Given the description of an element on the screen output the (x, y) to click on. 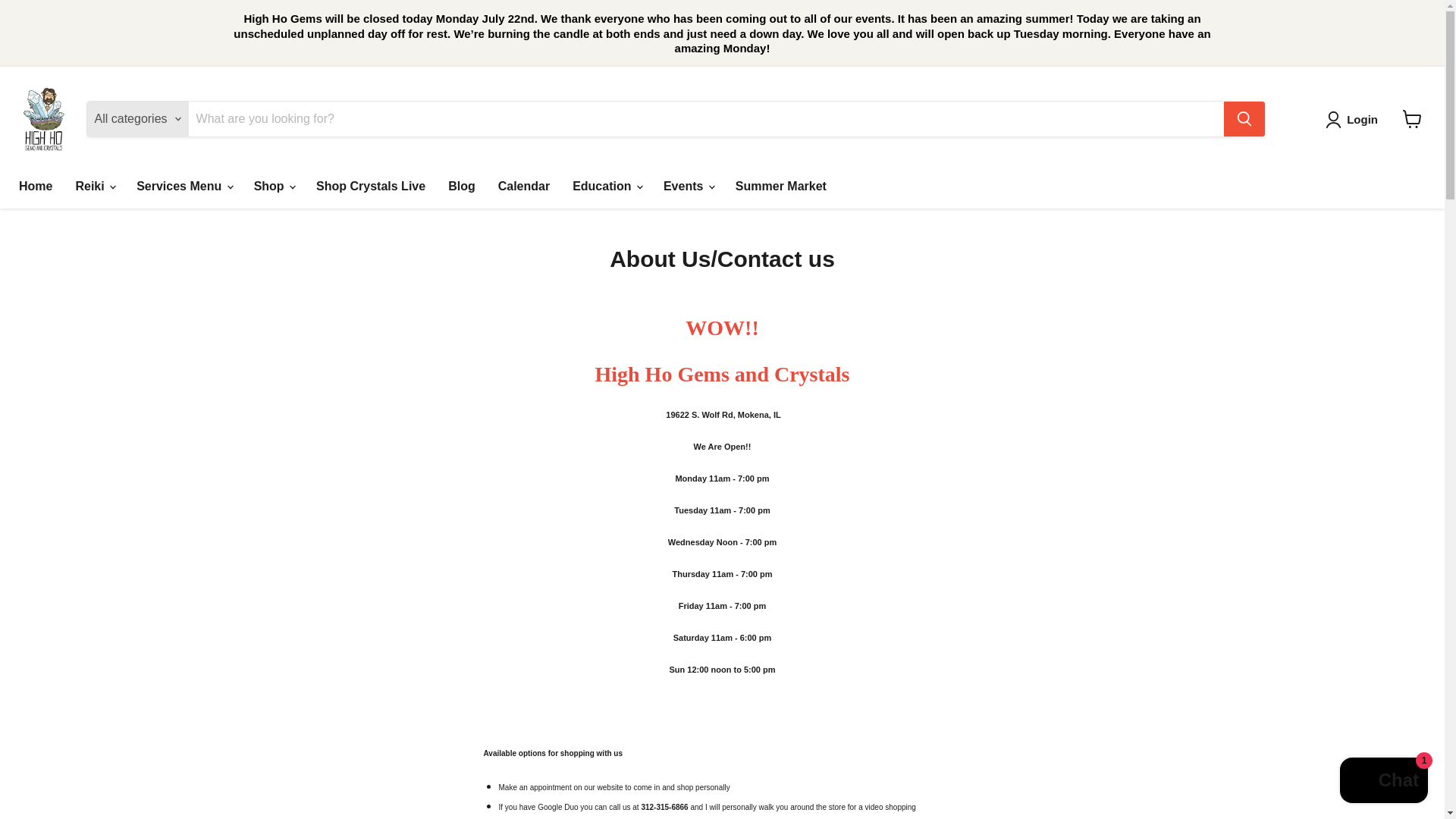
View cart (1411, 118)
Login (1362, 119)
Shopify online store chat (1383, 781)
Home (35, 186)
